Given the description of an element on the screen output the (x, y) to click on. 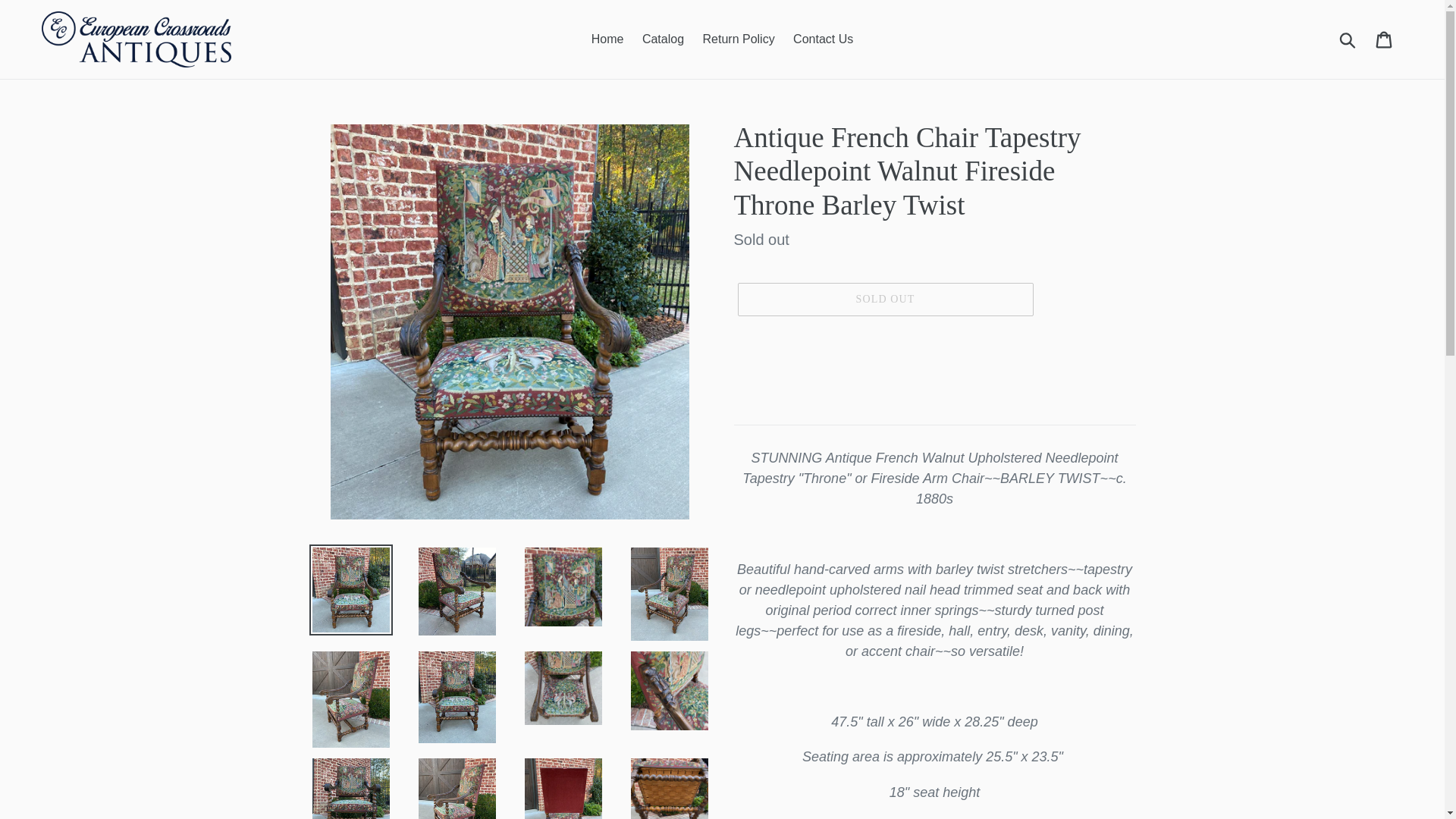
Contact Us (823, 38)
SOLD OUT (884, 299)
Cart (1385, 39)
Home (607, 38)
Submit (1348, 39)
Catalog (662, 38)
Return Policy (737, 38)
